Given the description of an element on the screen output the (x, y) to click on. 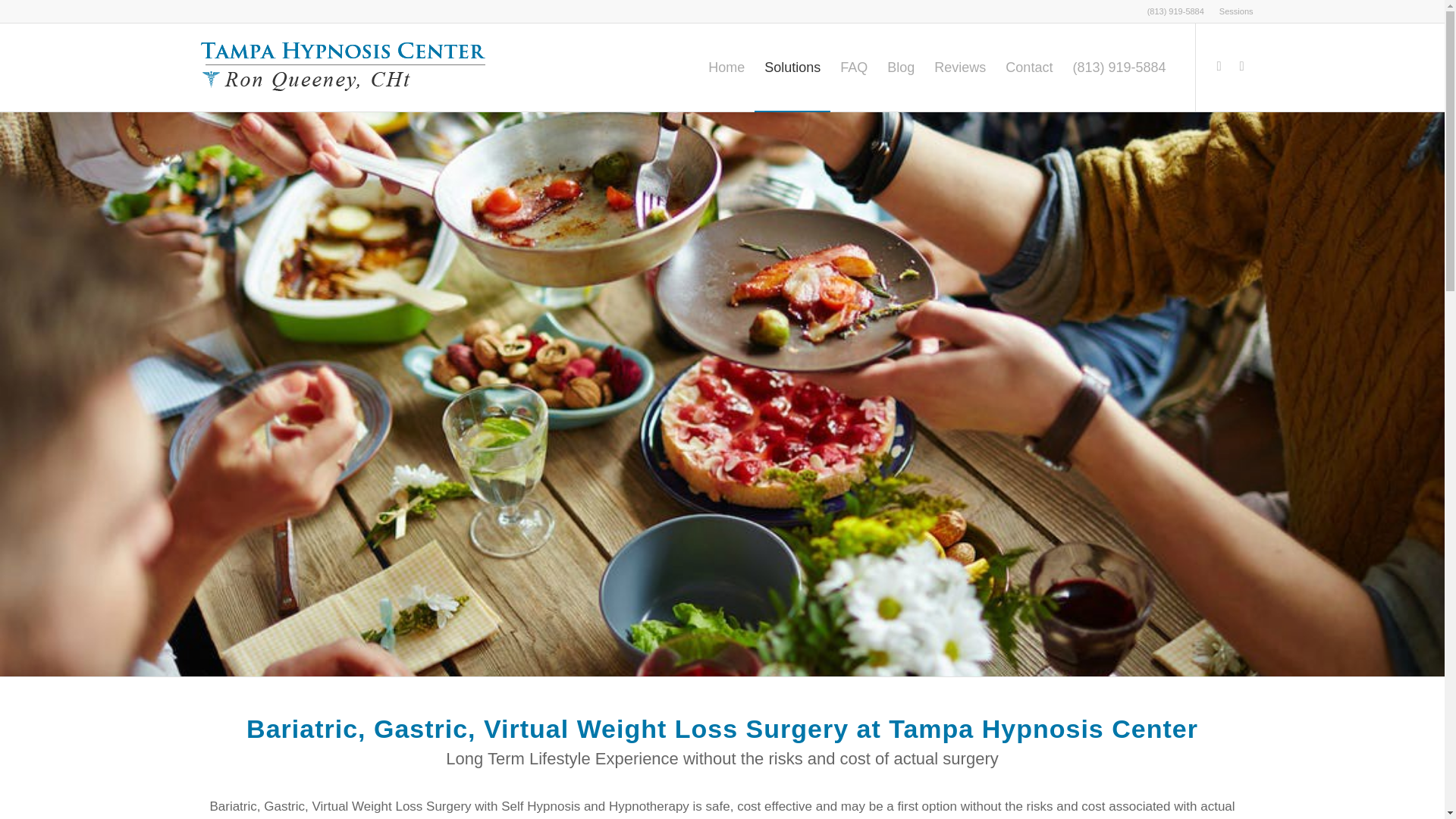
Sessions (1236, 11)
Gplus (1241, 66)
Facebook (1218, 66)
